Given the description of an element on the screen output the (x, y) to click on. 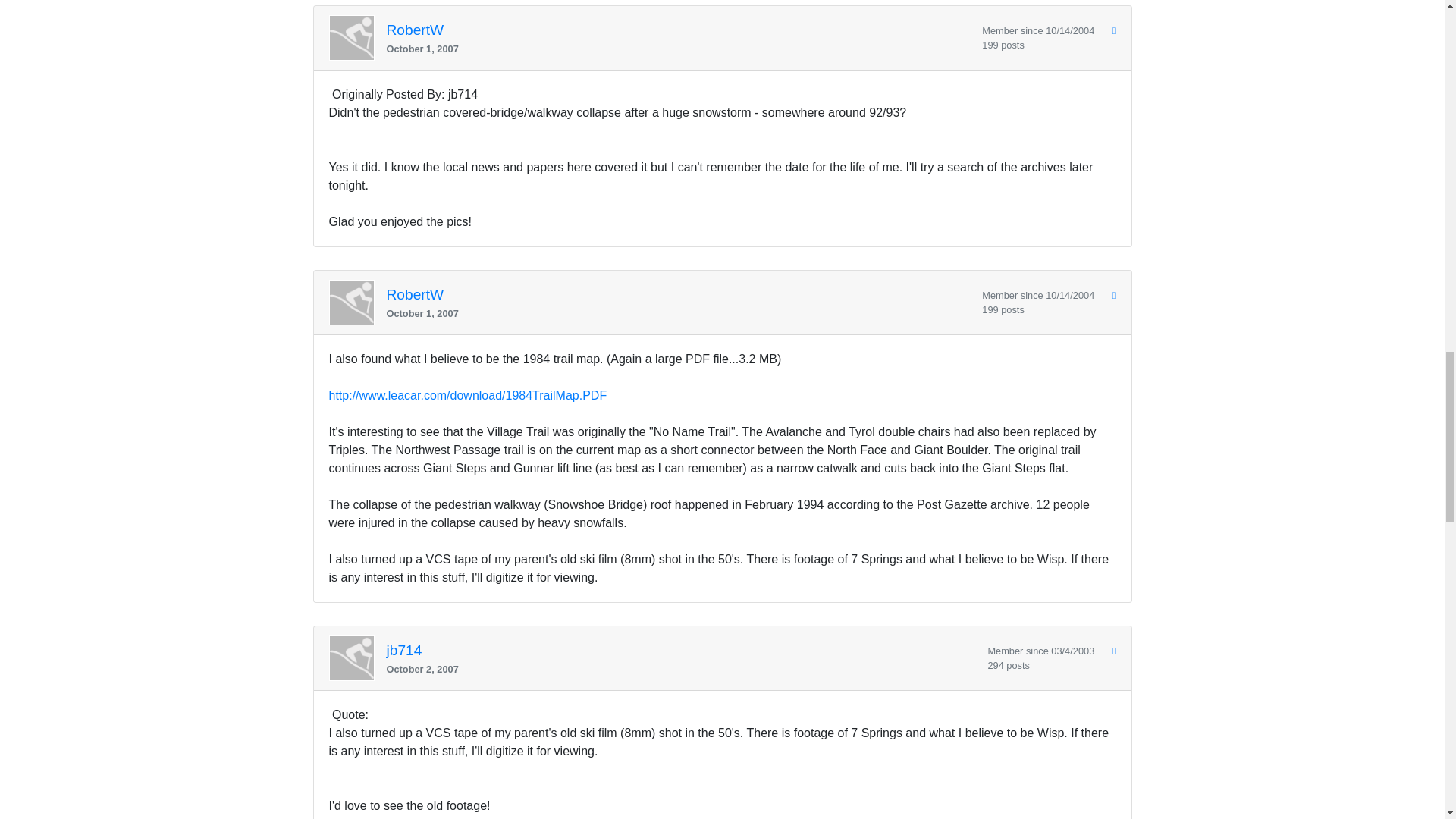
October 1, 2007 at 04:30 pm (679, 48)
October 2, 2007 at 06:31 pm (681, 668)
RobertW (415, 295)
RobertW (415, 30)
October 1, 2007 at 11:35 pm (679, 313)
